Given the description of an element on the screen output the (x, y) to click on. 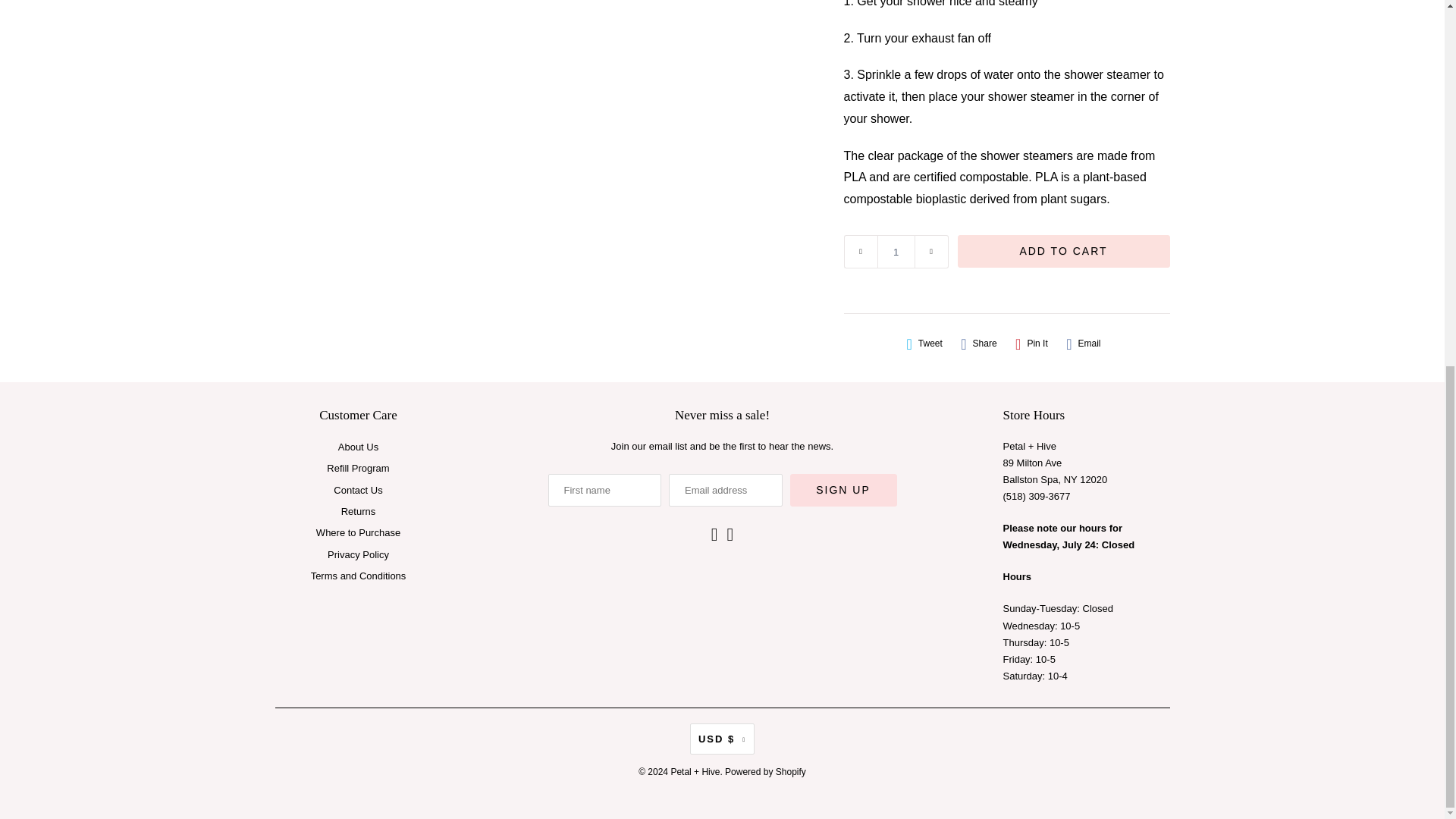
Shower Steamers - Jasmine and Amber (552, 57)
Email this to a friend (1083, 343)
1 (895, 251)
Sign Up (843, 490)
Share this on Facebook (978, 343)
Share this on Twitter (923, 343)
Share this on Pinterest (1031, 343)
